Given the description of an element on the screen output the (x, y) to click on. 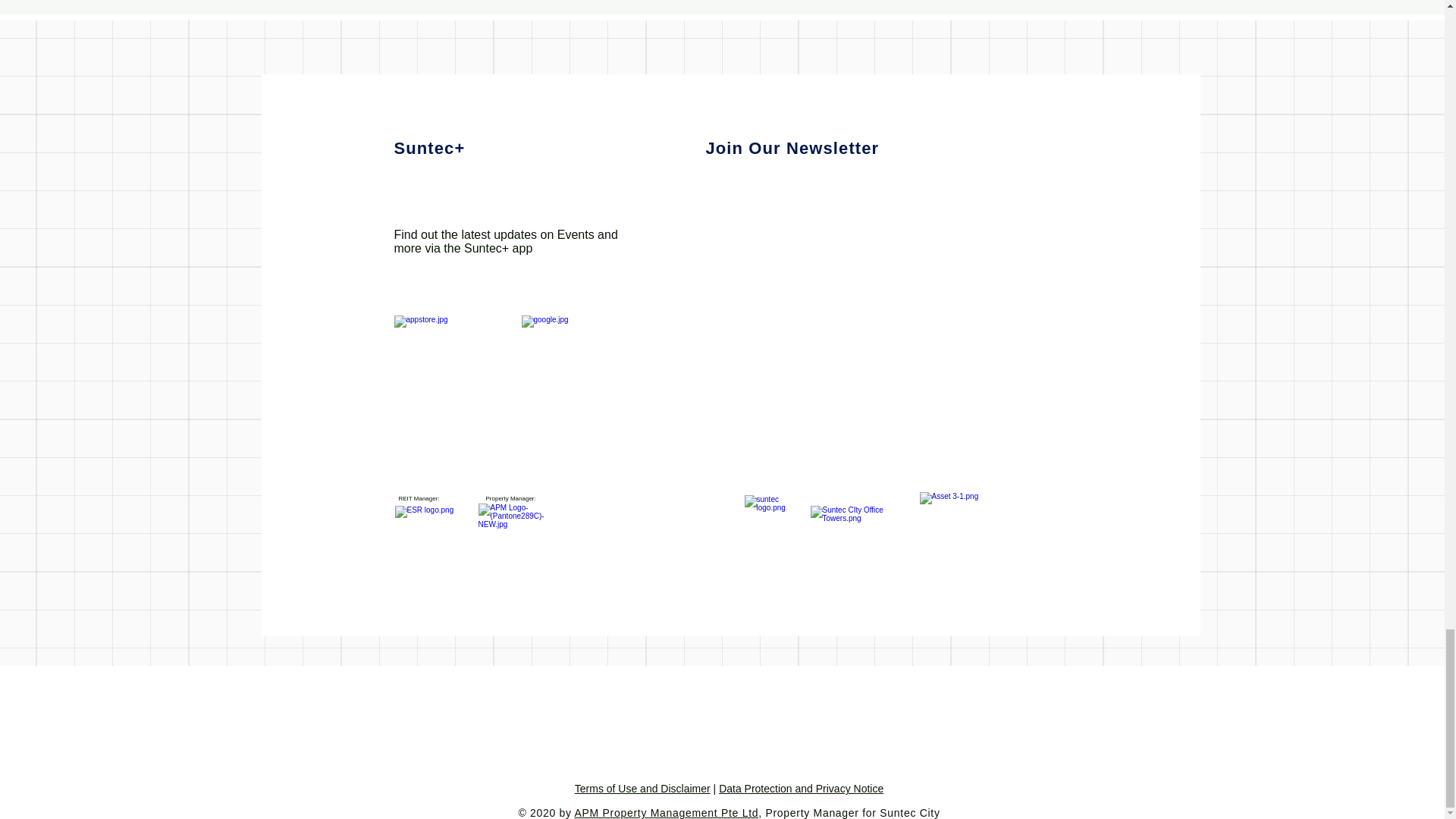
Property Manager: (509, 498)
Terms of Use and Disclaimer (642, 788)
Data Protection and Privacy Notice (801, 788)
REIT Manager: (418, 498)
